Given the description of an element on the screen output the (x, y) to click on. 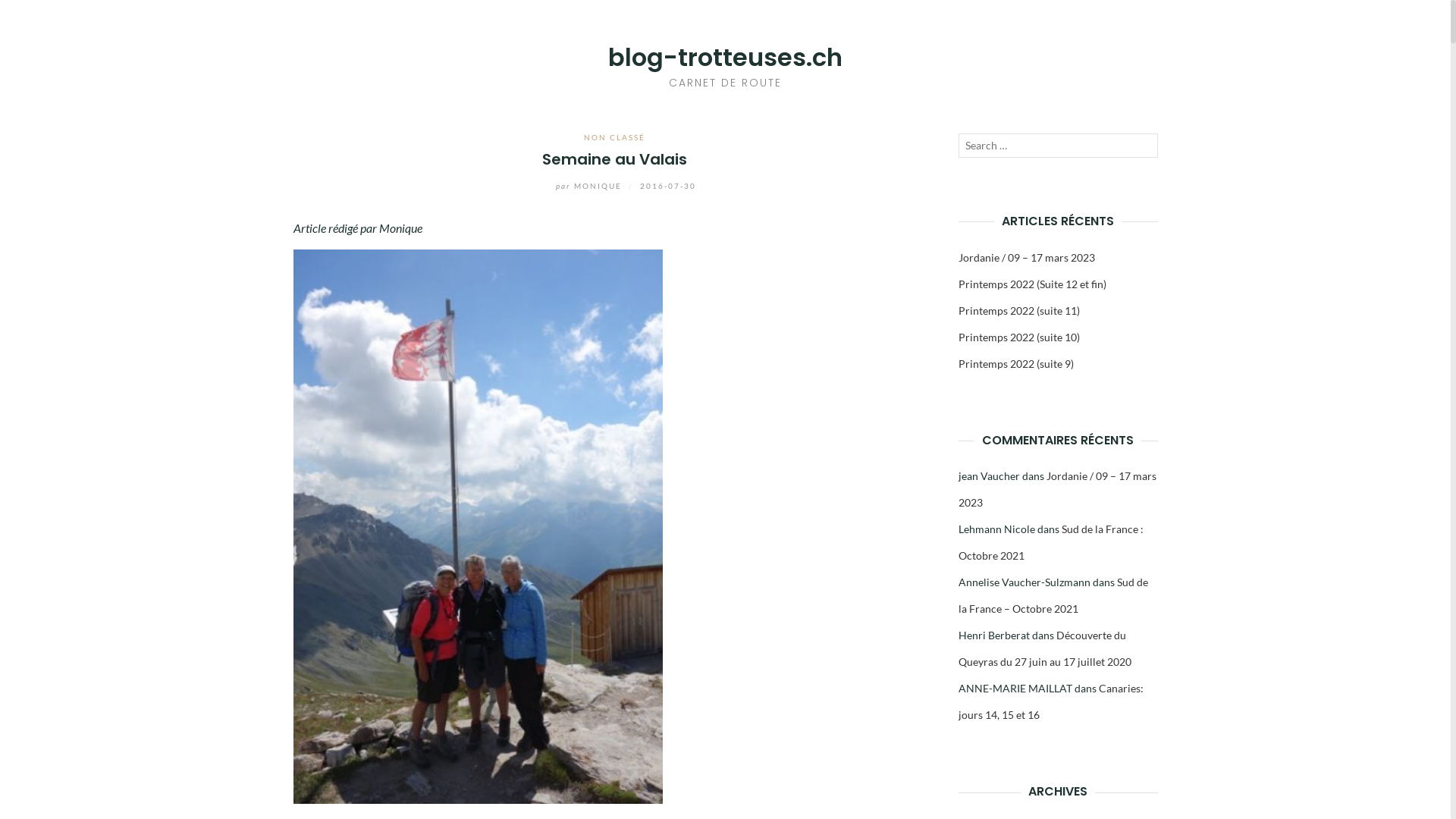
blog-trotteuses.ch Element type: text (725, 57)
Canaries: jours 14, 15 et 16 Element type: text (1050, 701)
par MONIQUE Element type: text (578, 185)
Printemps 2022 (suite 10) Element type: text (1018, 336)
Printemps 2022 (suite 11) Element type: text (1018, 310)
Printemps 2022 (Suite 12 et fin) Element type: text (1032, 283)
Sud de la France : Octobre 2021 Element type: text (1050, 541)
Printemps 2022 (suite 9) Element type: text (1015, 363)
